Given the description of an element on the screen output the (x, y) to click on. 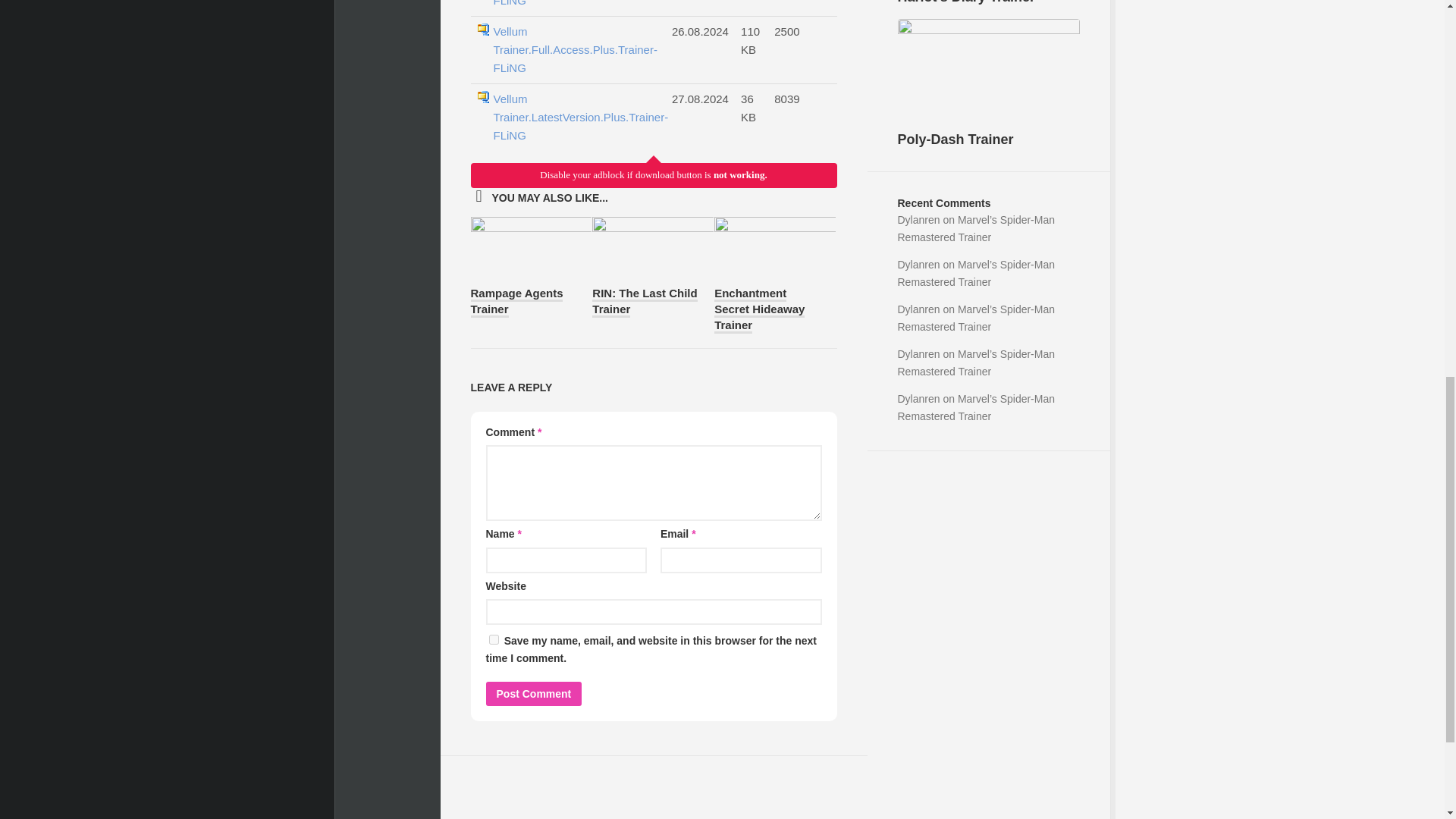
Vellum Trainer.Full.Access.Plus.12.Trainer-FLiNG (575, 117)
Rampage Agents Trainer (516, 301)
Vellum Trainer.Early.Access.Plus.12.Trainer-FLiNG (575, 4)
Vellum Trainer.LatestVersion.Plus.Trainer-FLiNG (575, 117)
Vellum Trainer.Full.Access.Plus.Trainer-FLiNG (575, 49)
Vellum Trainer.Early.Access.Plus.Trainer-FLiNG (575, 4)
Post Comment (532, 693)
Enchantment Secret Hideaway Trainer (759, 309)
yes (492, 639)
Post Comment (532, 693)
